Given the description of an element on the screen output the (x, y) to click on. 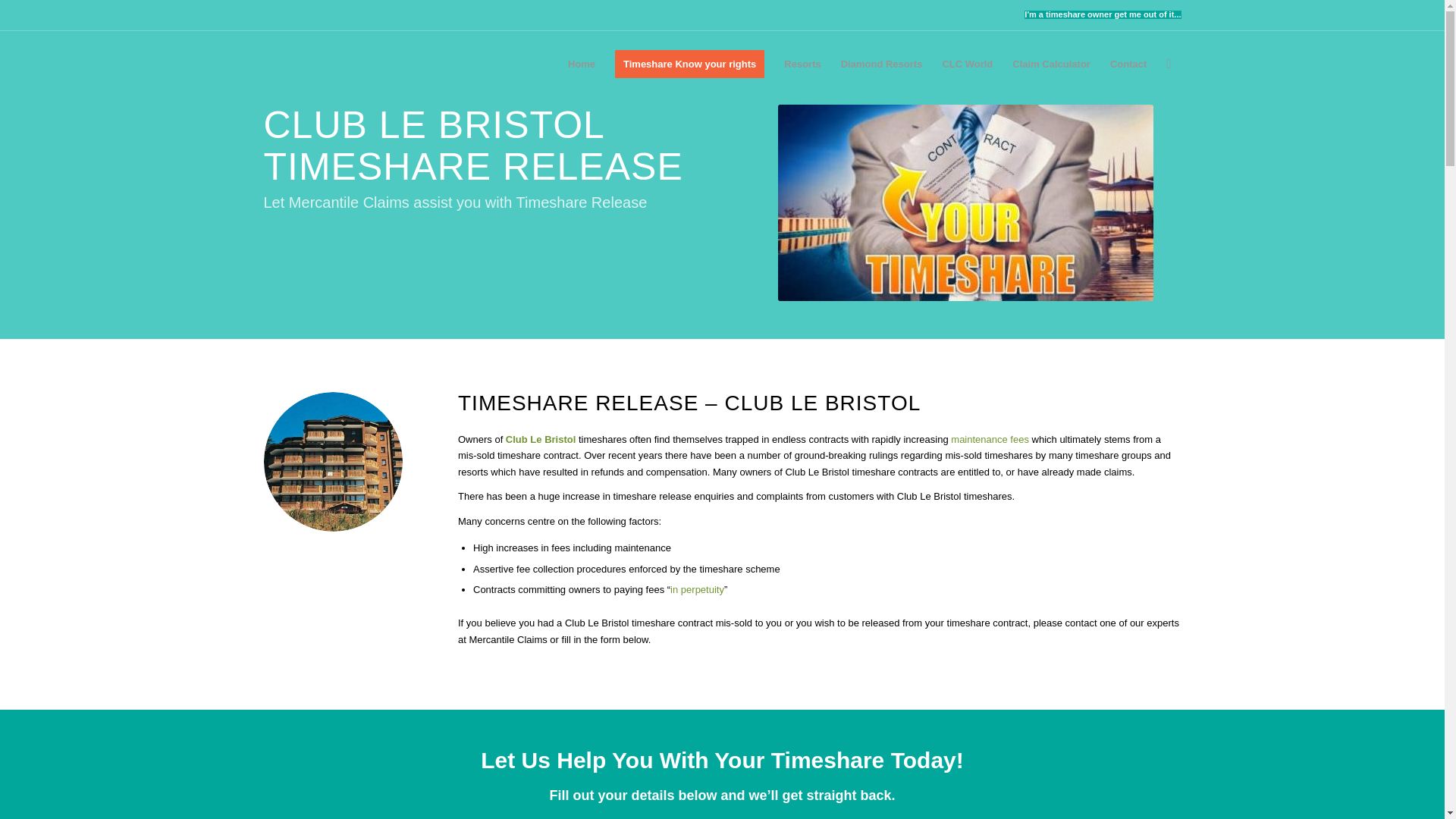
Diamond Resorts (882, 64)
timeshare-contract (965, 202)
maintenance fees (989, 439)
clublebristol (333, 461)
Timeshare Know your rights (689, 64)
Claim Calculator (1051, 64)
CLC World (967, 64)
I'm a timeshare owner get me out of it... (1102, 13)
